Given the description of an element on the screen output the (x, y) to click on. 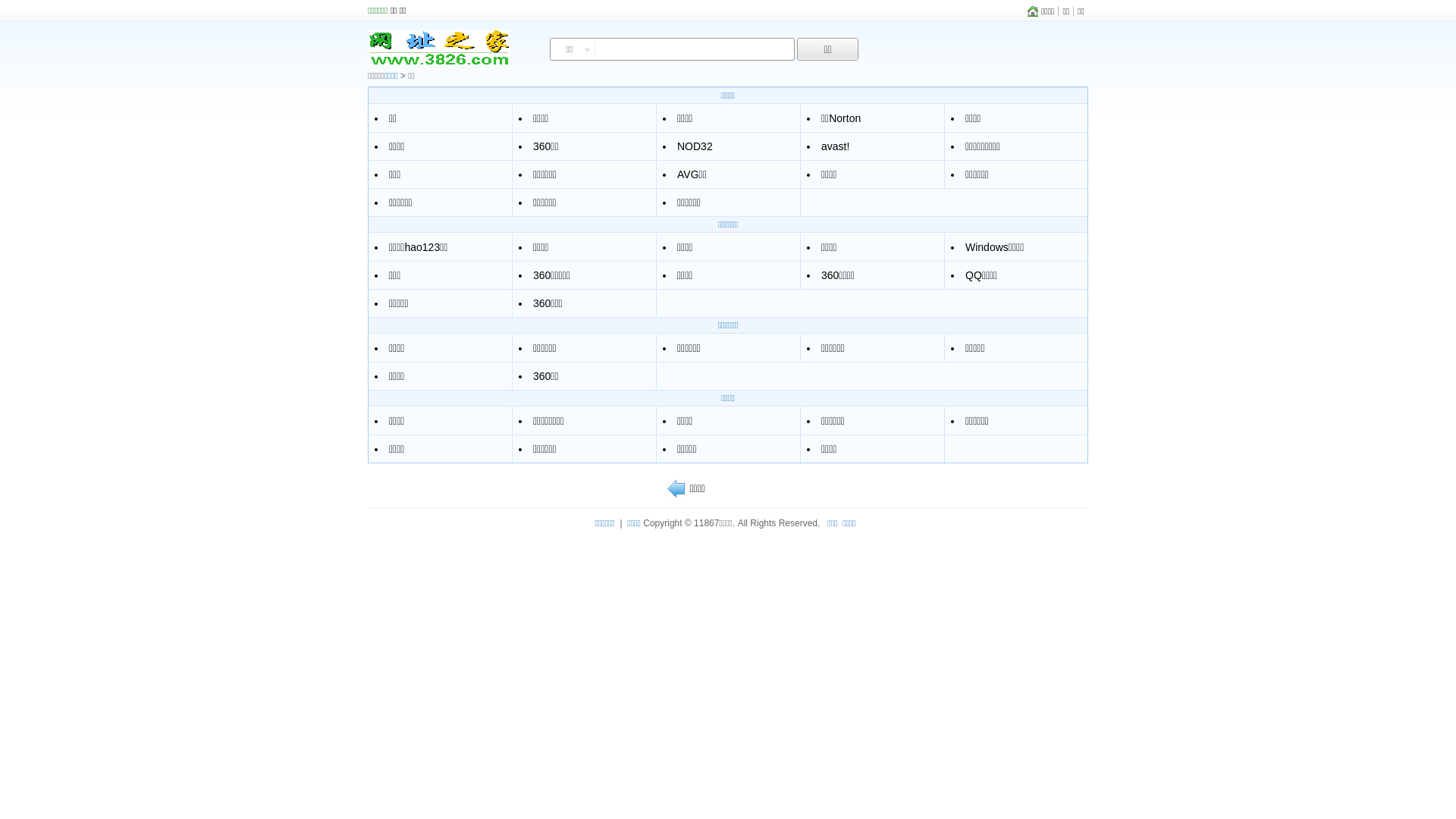
avast! Element type: text (835, 146)
NOD32 Element type: text (694, 146)
